Given the description of an element on the screen output the (x, y) to click on. 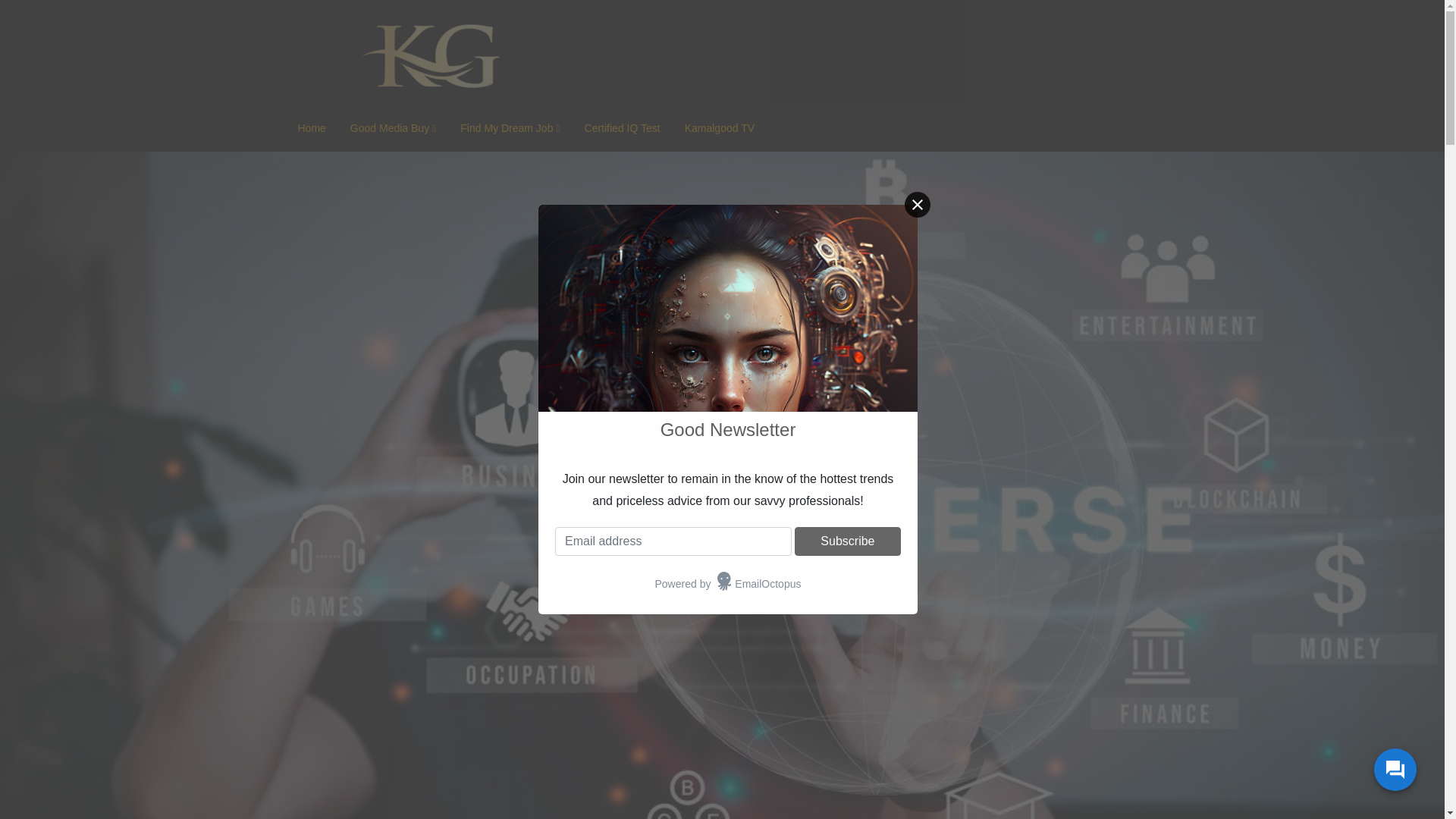
Certified IQ Test (622, 127)
Find My Dream Job (510, 128)
Kamalgood TV (719, 127)
Subscribe (847, 541)
Good Media Buy (392, 128)
